Given the description of an element on the screen output the (x, y) to click on. 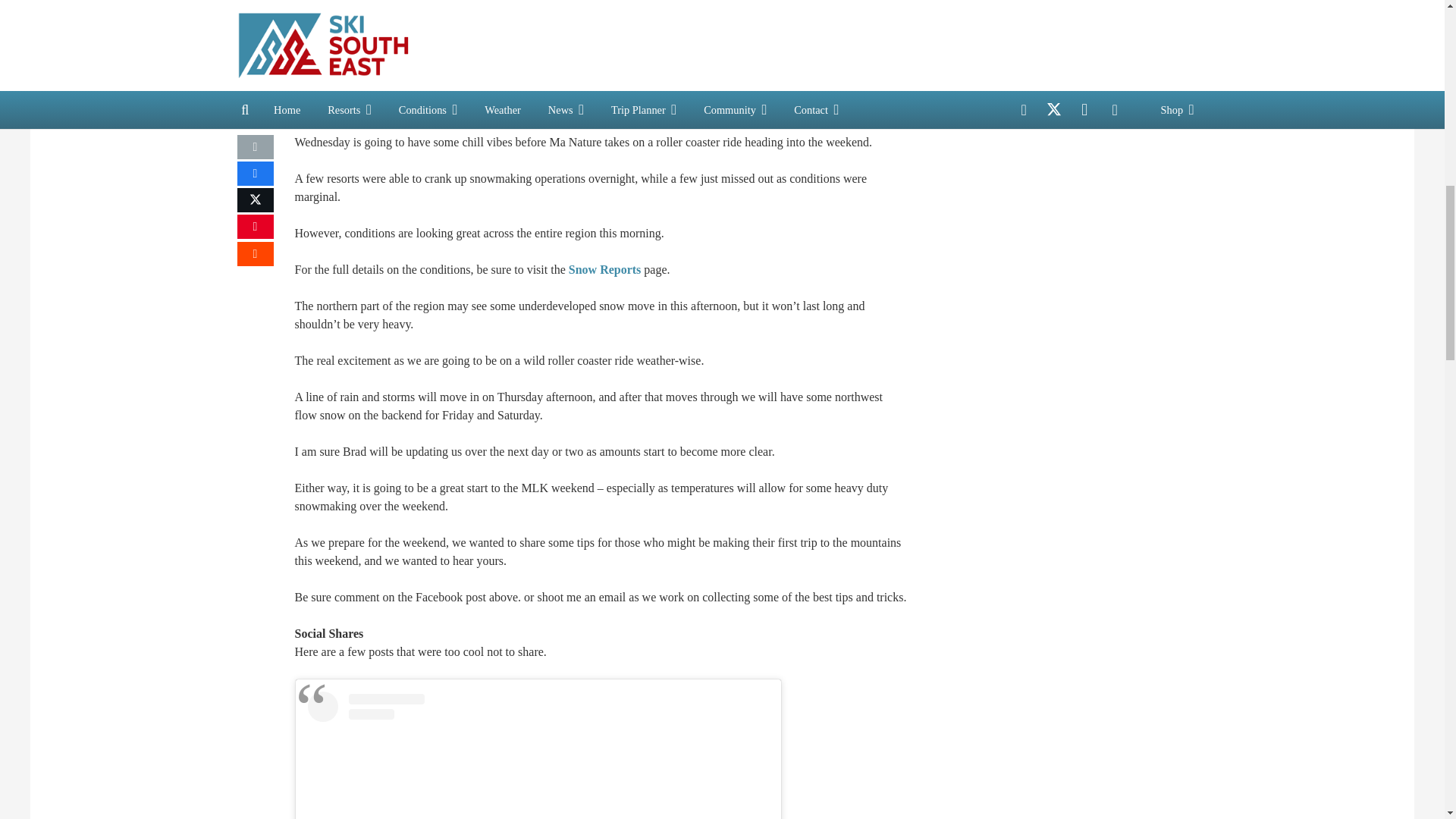
Tweet this (254, 200)
Email this (254, 146)
Pin this (254, 226)
Share this (254, 173)
Share this (254, 252)
